Given the description of an element on the screen output the (x, y) to click on. 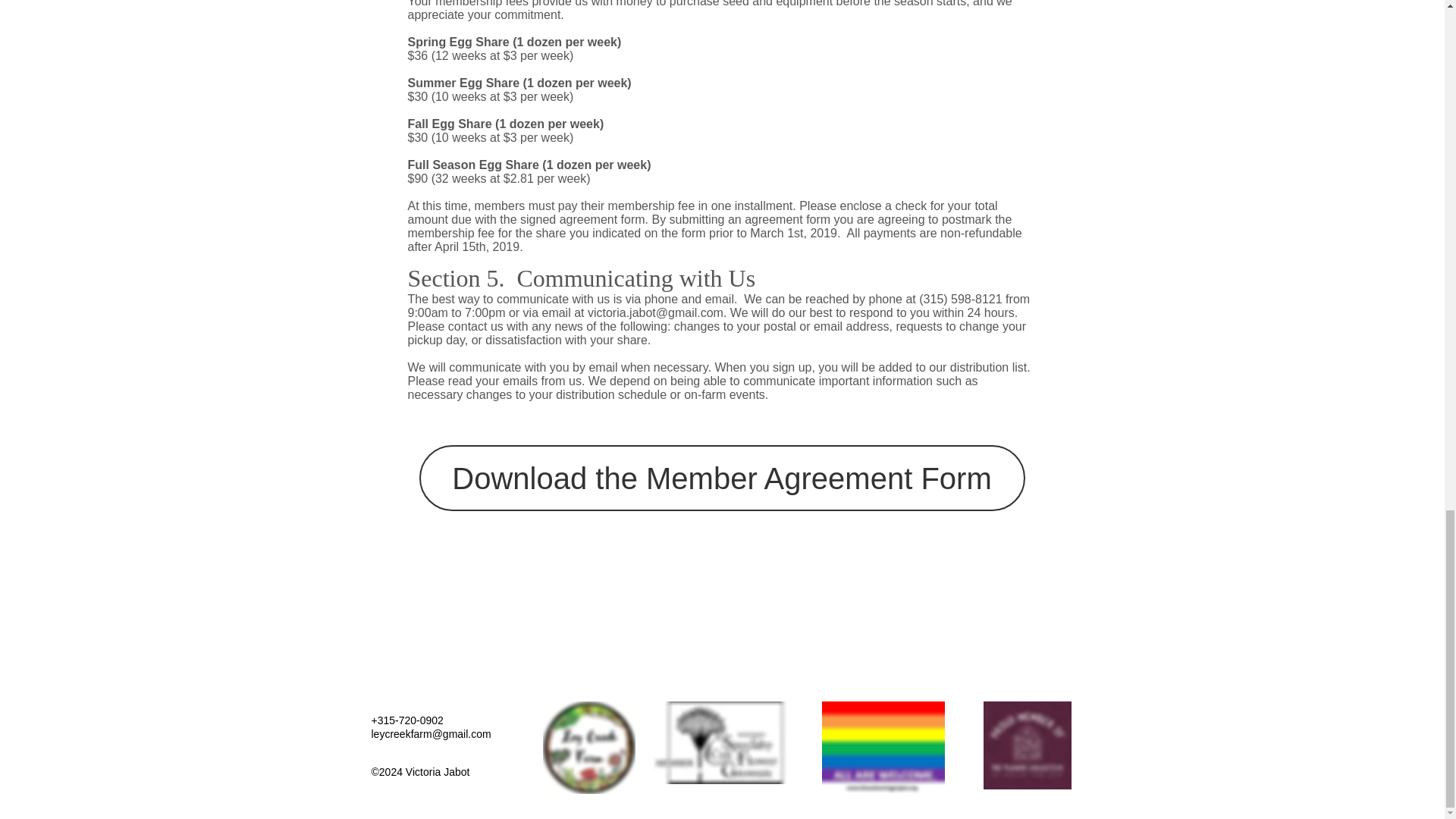
Download the Member Agreement Form (722, 478)
